Given the description of an element on the screen output the (x, y) to click on. 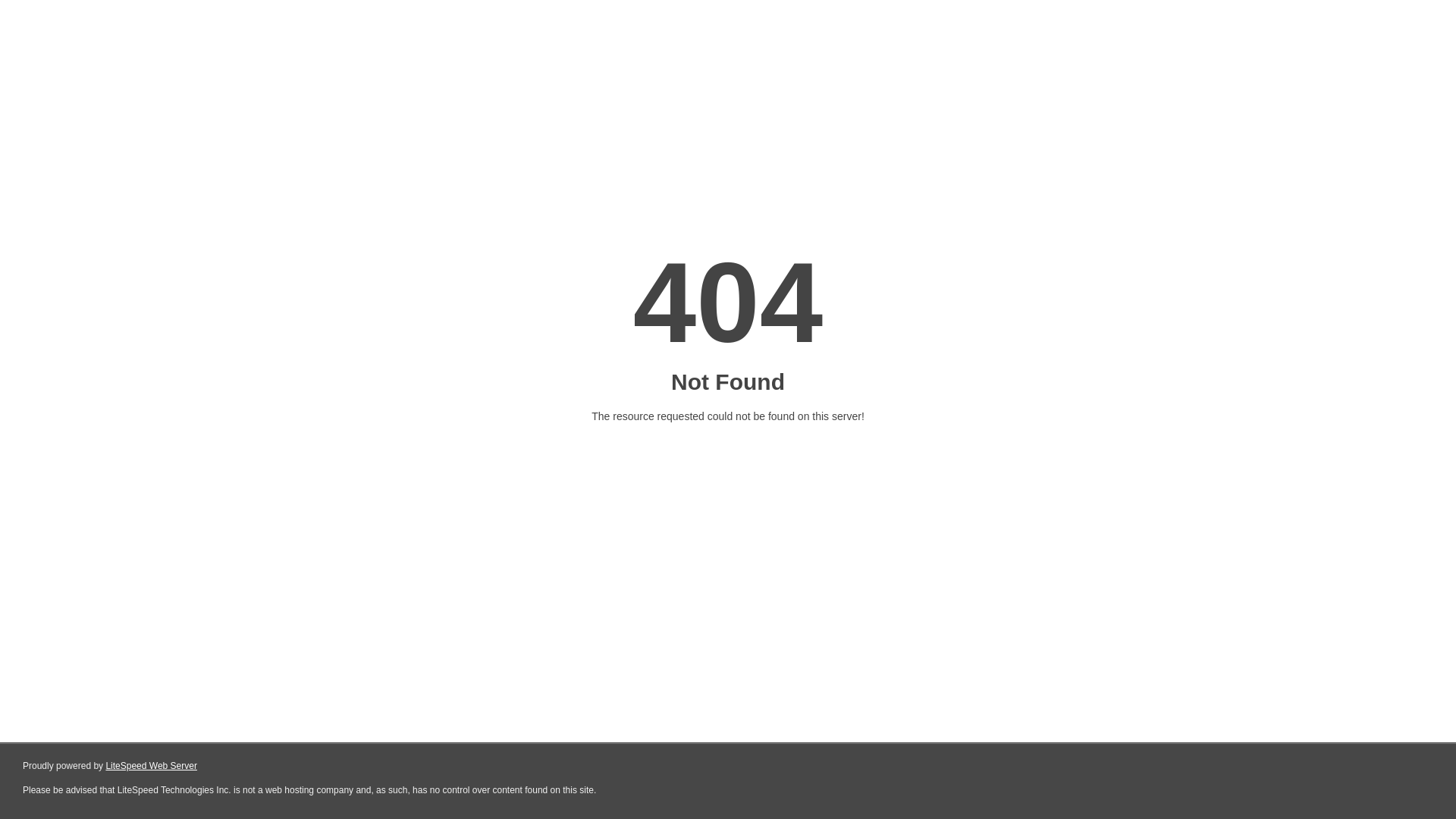
LiteSpeed Web Server Element type: text (151, 765)
